Given the description of an element on the screen output the (x, y) to click on. 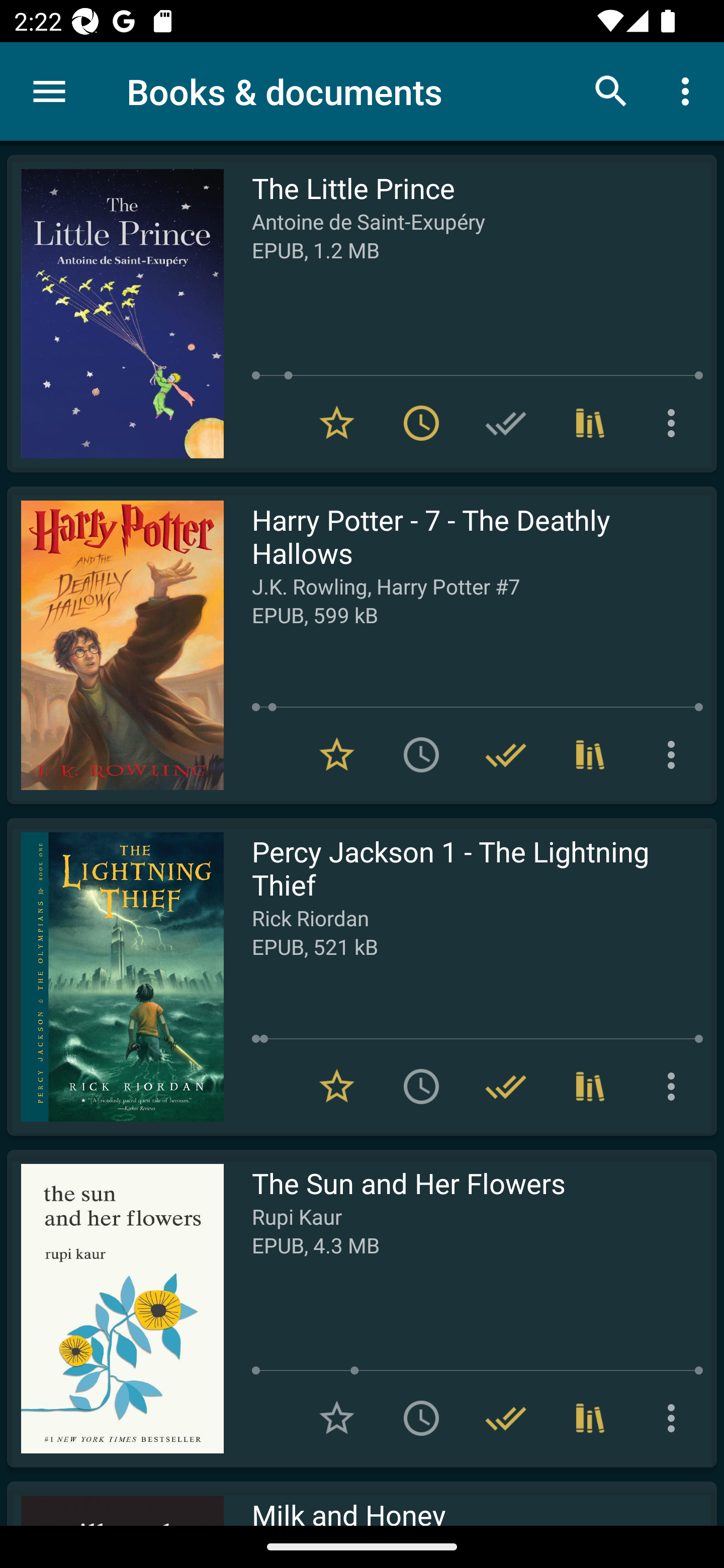
Menu (49, 91)
Search books & documents (611, 90)
More options (688, 90)
Read The Little Prince (115, 313)
Remove from Favorites (336, 423)
Remove from To read (421, 423)
Add to Have read (505, 423)
Collections (1) (590, 423)
More options (674, 423)
Read Harry Potter - 7 - The Deathly Hallows (115, 645)
Remove from Favorites (336, 753)
Add to To read (421, 753)
Remove from Have read (505, 753)
Collections (3) (590, 753)
More options (674, 753)
Read Percy Jackson 1 - The Lightning Thief (115, 976)
Remove from Favorites (336, 1086)
Add to To read (421, 1086)
Remove from Have read (505, 1086)
Collections (1) (590, 1086)
More options (674, 1086)
Read The Sun and Her Flowers (115, 1308)
Add to Favorites (336, 1417)
Add to To read (421, 1417)
Remove from Have read (505, 1417)
Collections (1) (590, 1417)
More options (674, 1417)
